Given the description of an element on the screen output the (x, y) to click on. 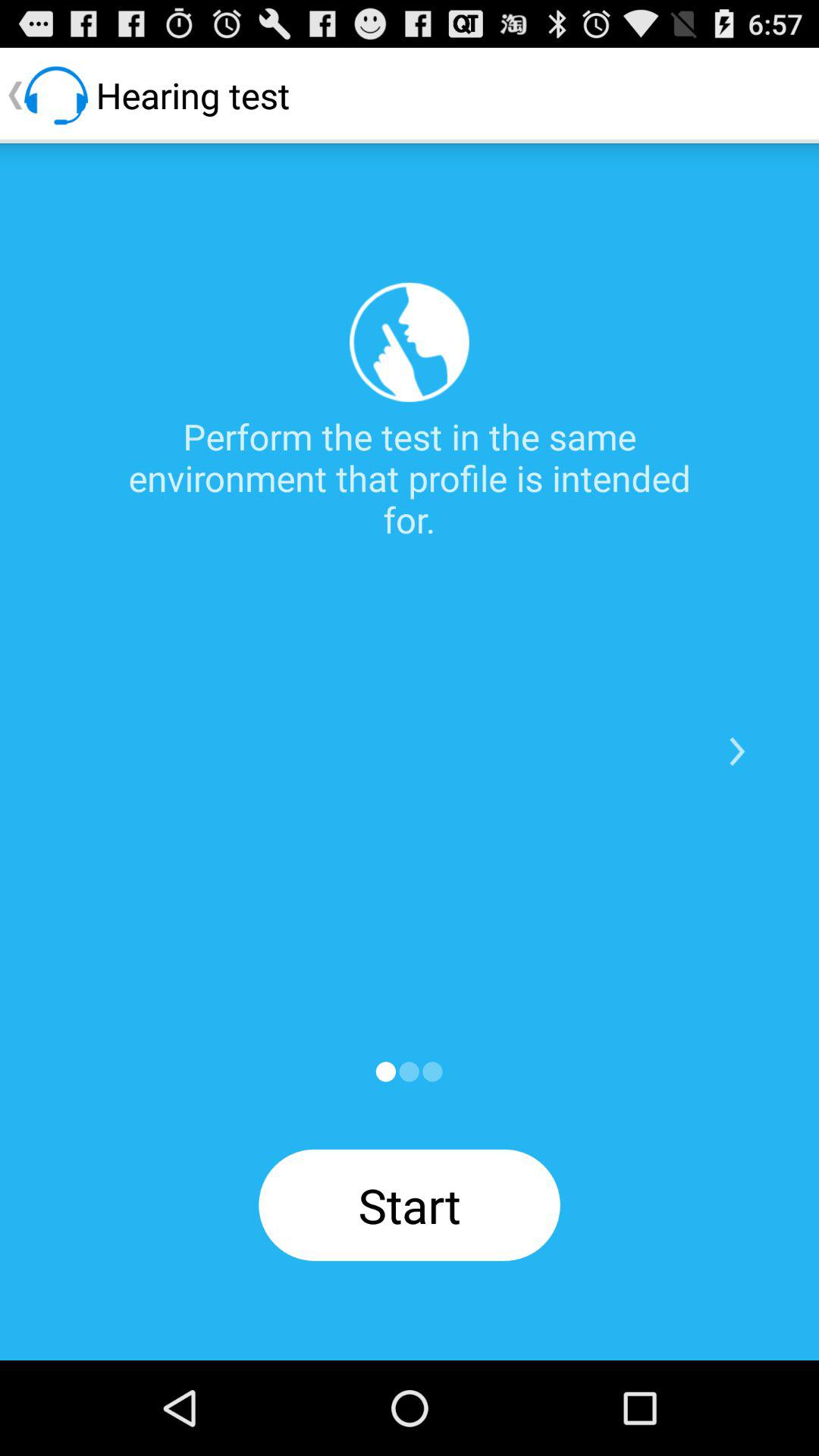
start app (409, 1071)
